Given the description of an element on the screen output the (x, y) to click on. 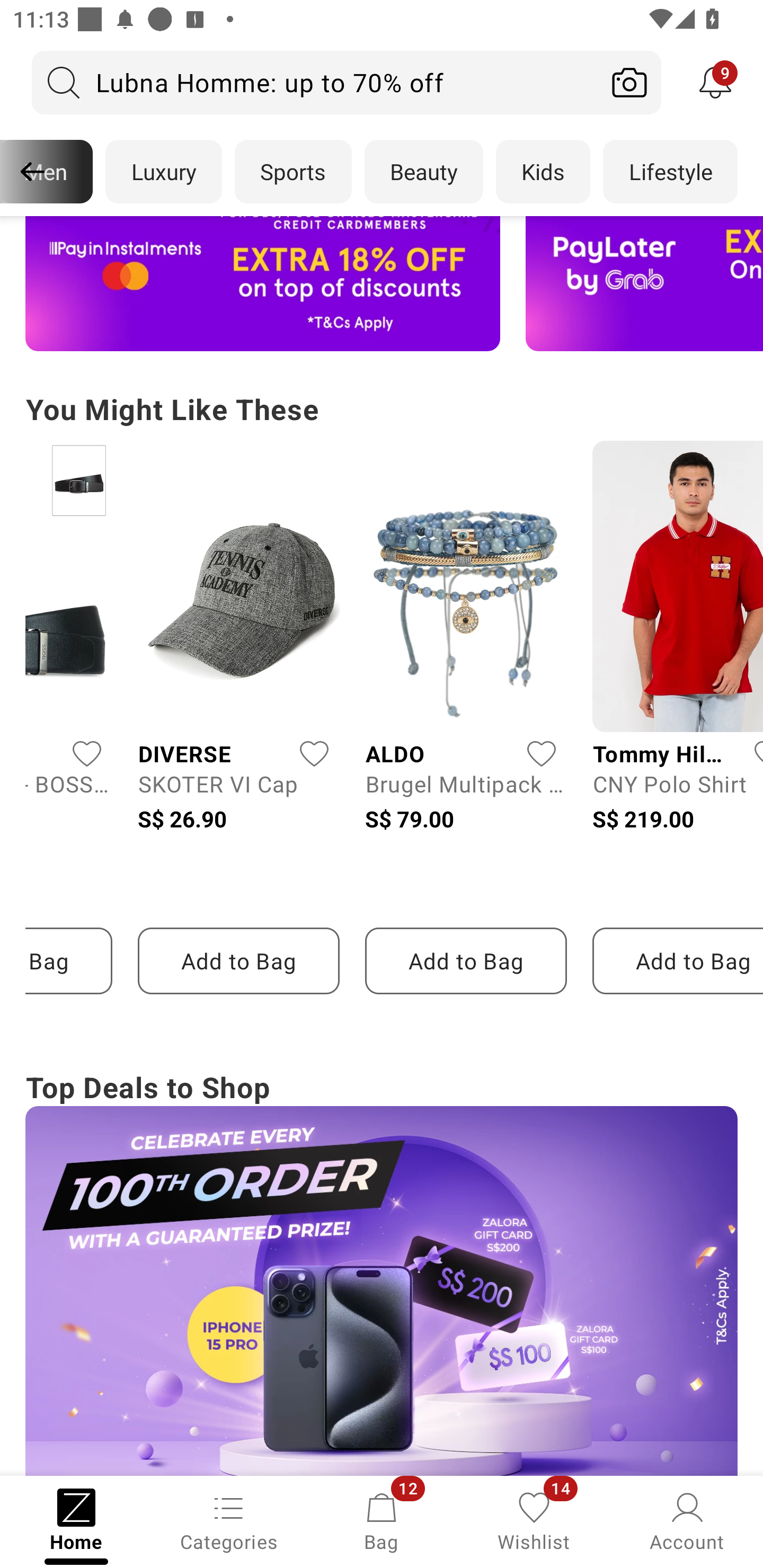
Lubna Homme: up to 70% off (314, 82)
Luxury (163, 171)
Sports (293, 171)
Beauty (423, 171)
Kids (542, 171)
Lifestyle (669, 171)
Campaign banner (262, 283)
Add to Bag (238, 961)
Add to Bag (465, 961)
Add to Bag (677, 961)
Top Deals to Shop Campaign banner (381, 1269)
Campaign banner (381, 1290)
Categories (228, 1519)
Bag, 12 new notifications Bag (381, 1519)
Wishlist, 14 new notifications Wishlist (533, 1519)
Account (686, 1519)
